Given the description of an element on the screen output the (x, y) to click on. 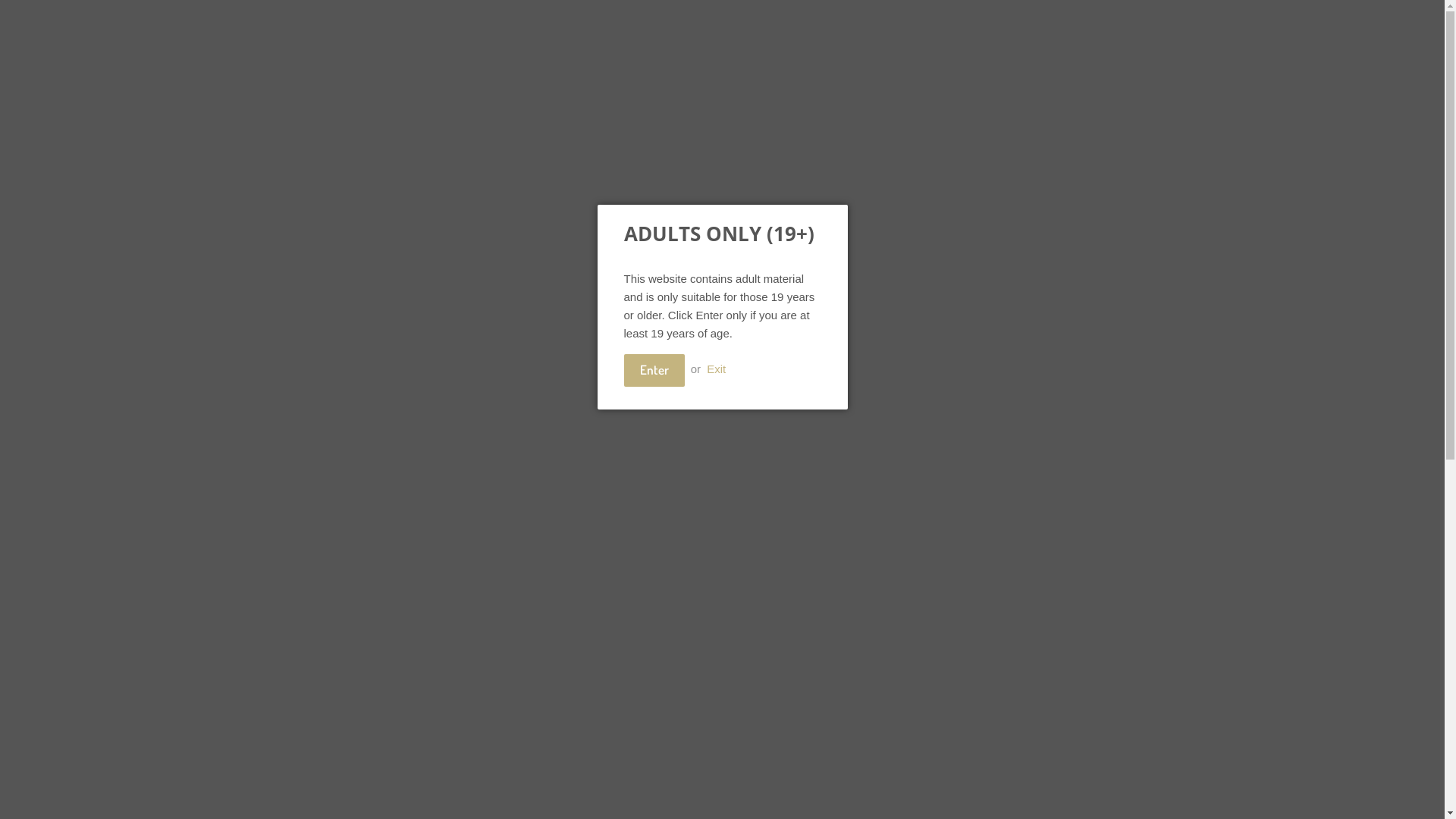
FIND US Element type: text (503, 172)
Pin it Element type: text (824, 674)
Fancy Element type: text (891, 674)
Exit Element type: text (715, 368)
Add to Cart Element type: text (700, 496)
Sign in Element type: text (978, 53)
ABOUT US Element type: text (428, 172)
Share Element type: text (688, 674)
HOME Element type: text (359, 172)
E-LIQUID Element type: text (797, 172)
Search Element type: text (1017, 90)
Cart Element type: text (1075, 89)
HARDWARE Element type: text (581, 172)
Enter Element type: text (653, 369)
Home Element type: text (358, 214)
Create an Account Element type: text (1058, 53)
Tweet Element type: text (757, 674)
STLTH/DISPOSABLE Element type: text (693, 172)
